Given the description of an element on the screen output the (x, y) to click on. 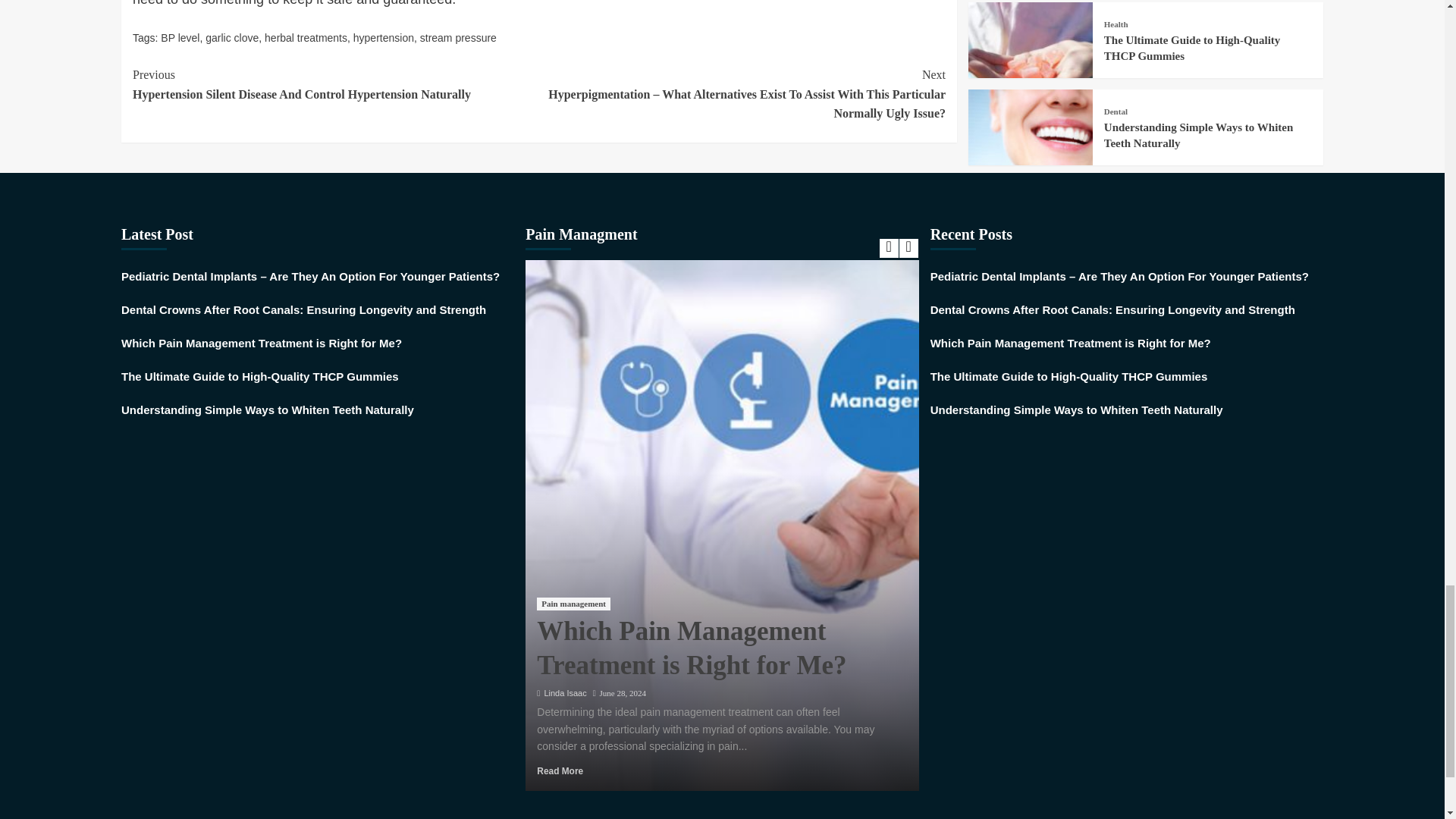
hypertension (383, 37)
BP level (179, 37)
stream pressure (458, 37)
garlic clove (232, 37)
herbal treatments (305, 37)
